Given the description of an element on the screen output the (x, y) to click on. 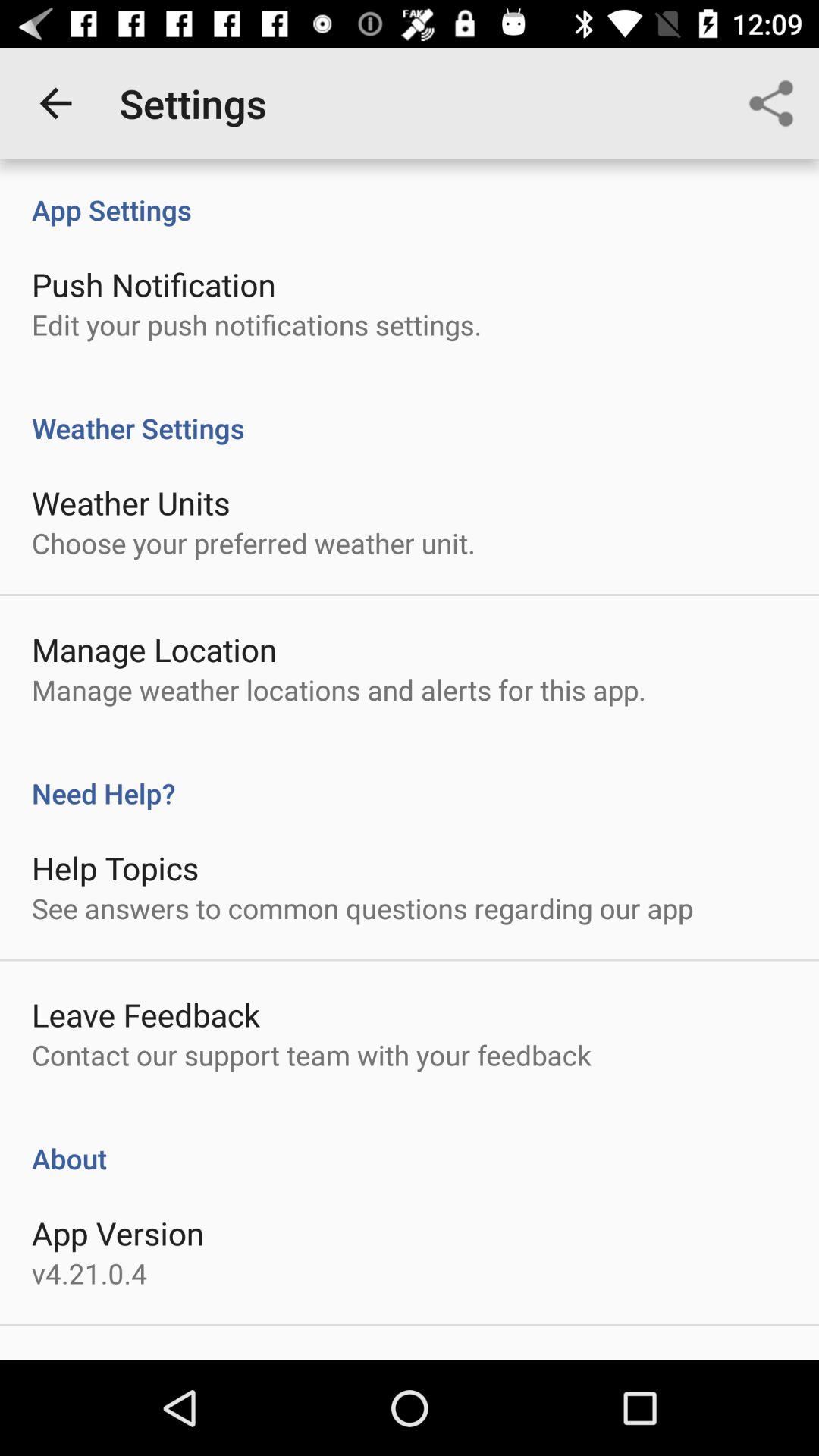
click help topics icon (115, 867)
